Given the description of an element on the screen output the (x, y) to click on. 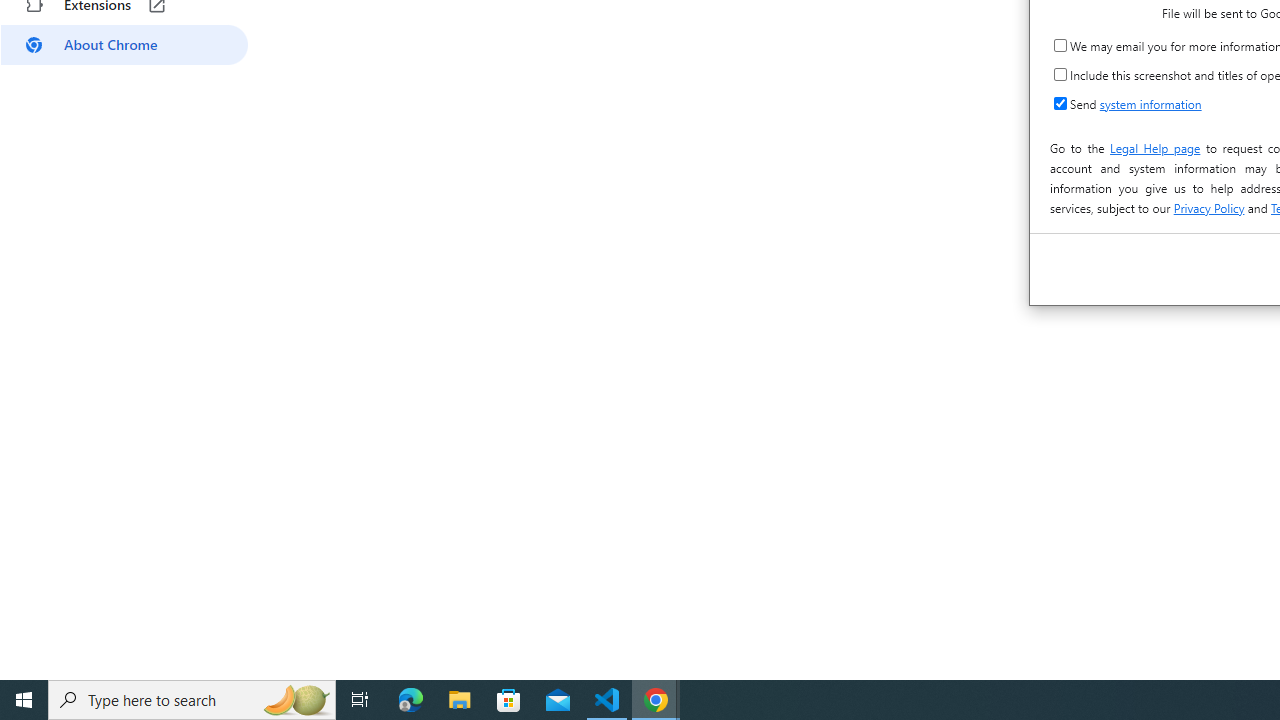
About Chrome (124, 44)
Privacy Policy (1208, 208)
system information (1150, 103)
